Given the description of an element on the screen output the (x, y) to click on. 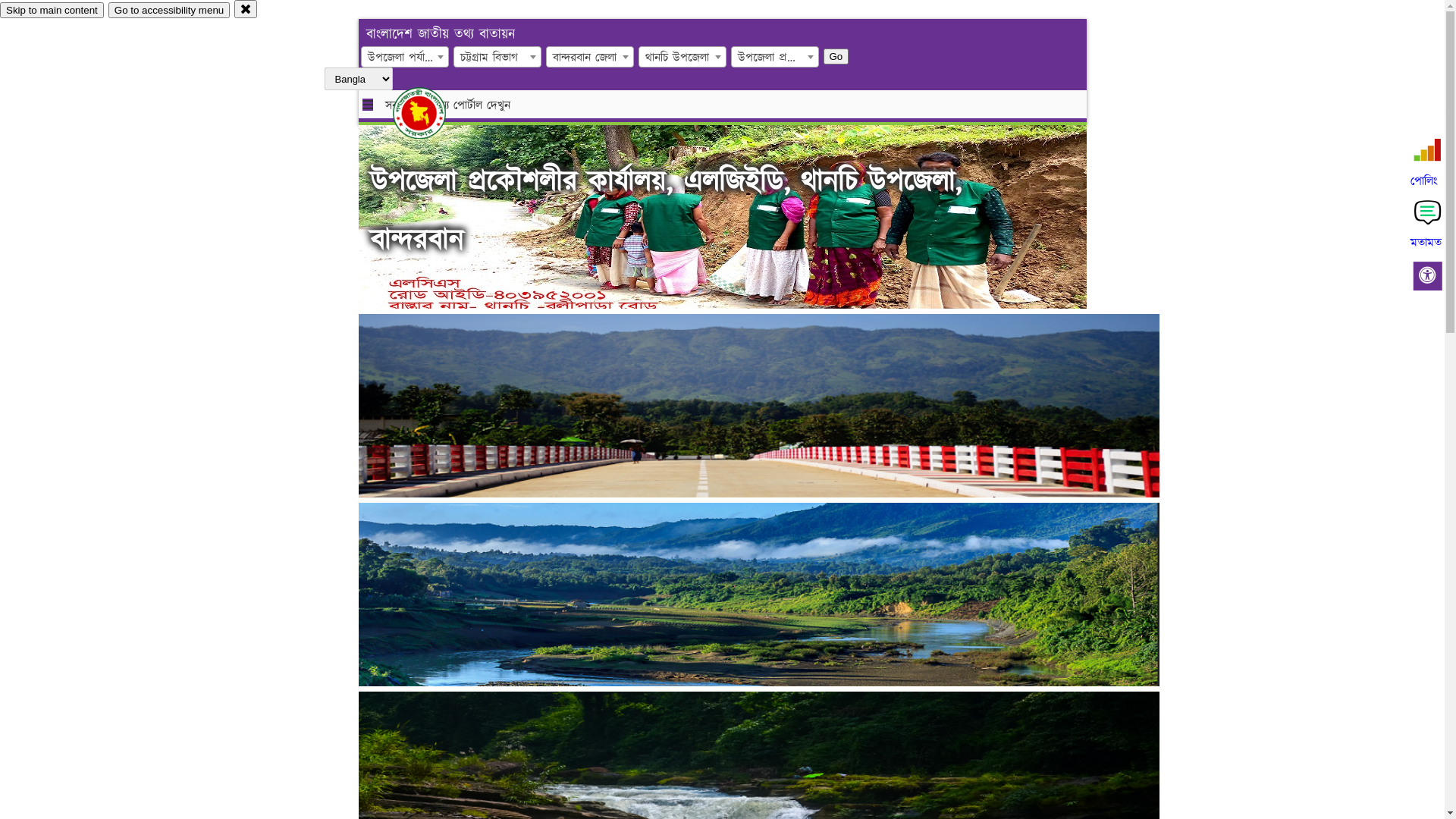
close Element type: hover (245, 9)

                
             Element type: hover (431, 112)
Skip to main content Element type: text (51, 10)
Go to accessibility menu Element type: text (168, 10)
Go Element type: text (836, 56)
